Given the description of an element on the screen output the (x, y) to click on. 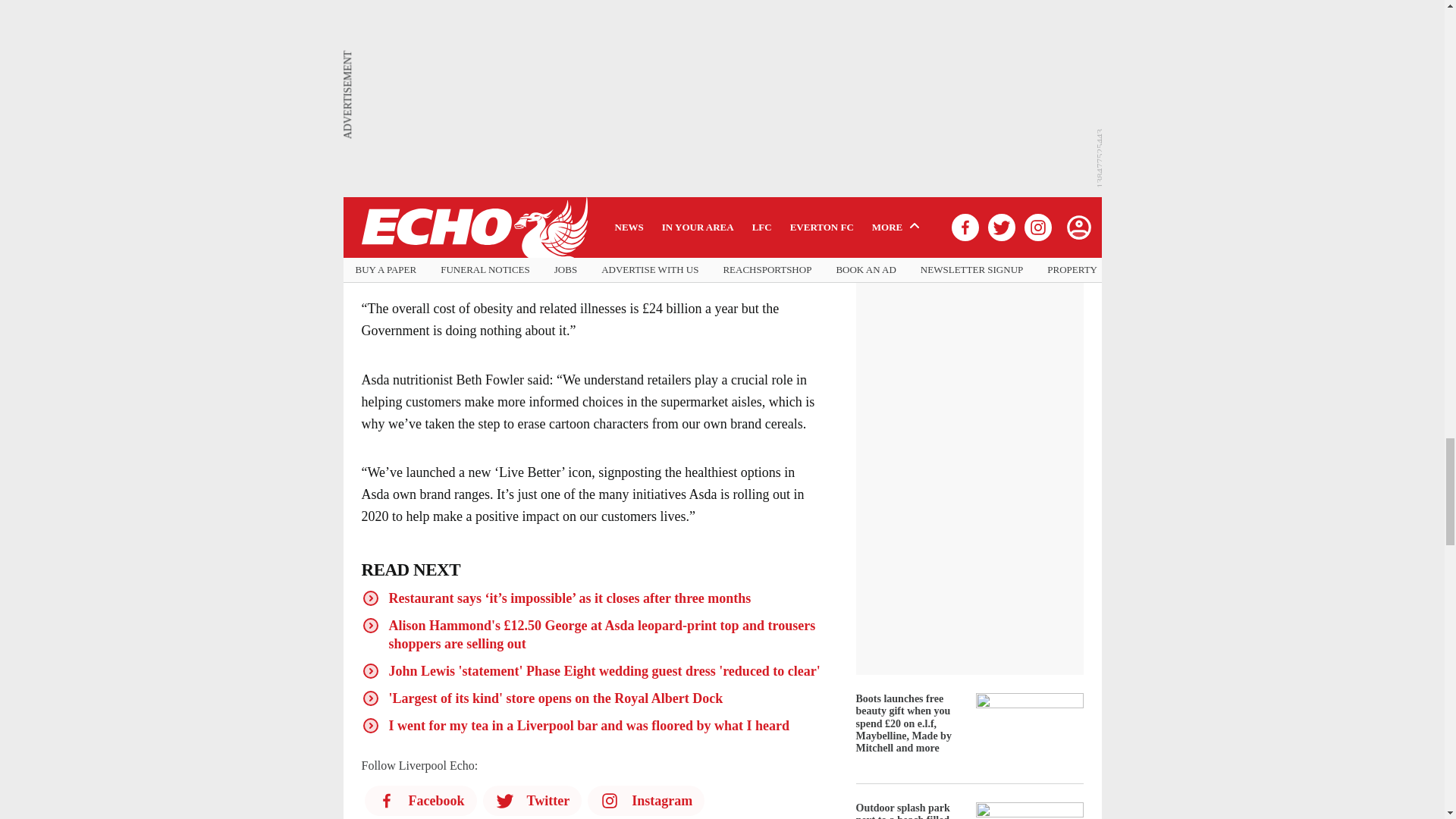
Read Next Article Icon (369, 670)
Read Next Article Icon (369, 597)
Read Next Article Icon (369, 698)
Read Next Article Icon (369, 625)
Read Next Article Icon (369, 725)
